Given the description of an element on the screen output the (x, y) to click on. 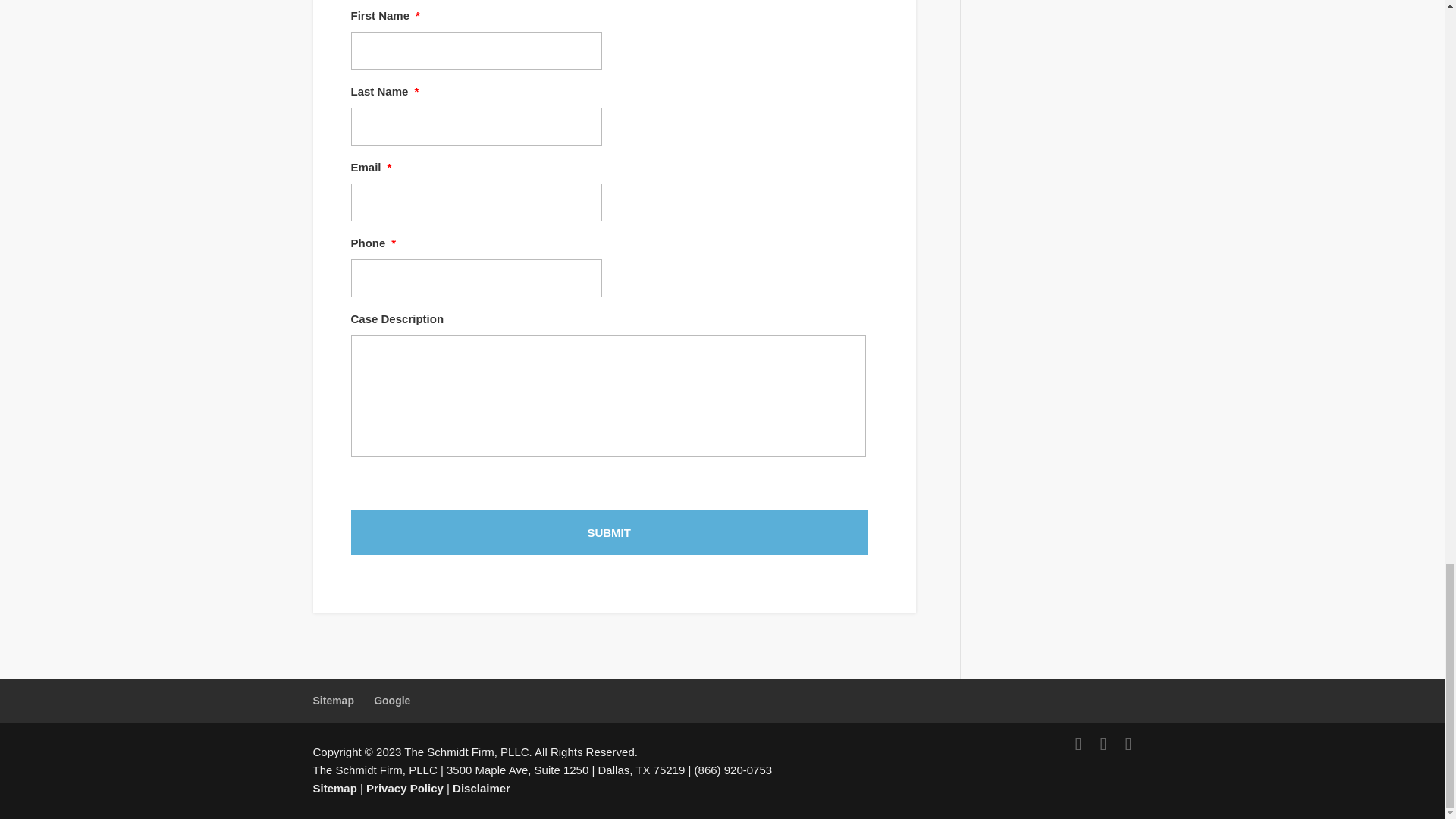
Sitemap (334, 788)
Submit (608, 532)
Sitemap (333, 700)
Submit (608, 532)
Google (392, 700)
